Given the description of an element on the screen output the (x, y) to click on. 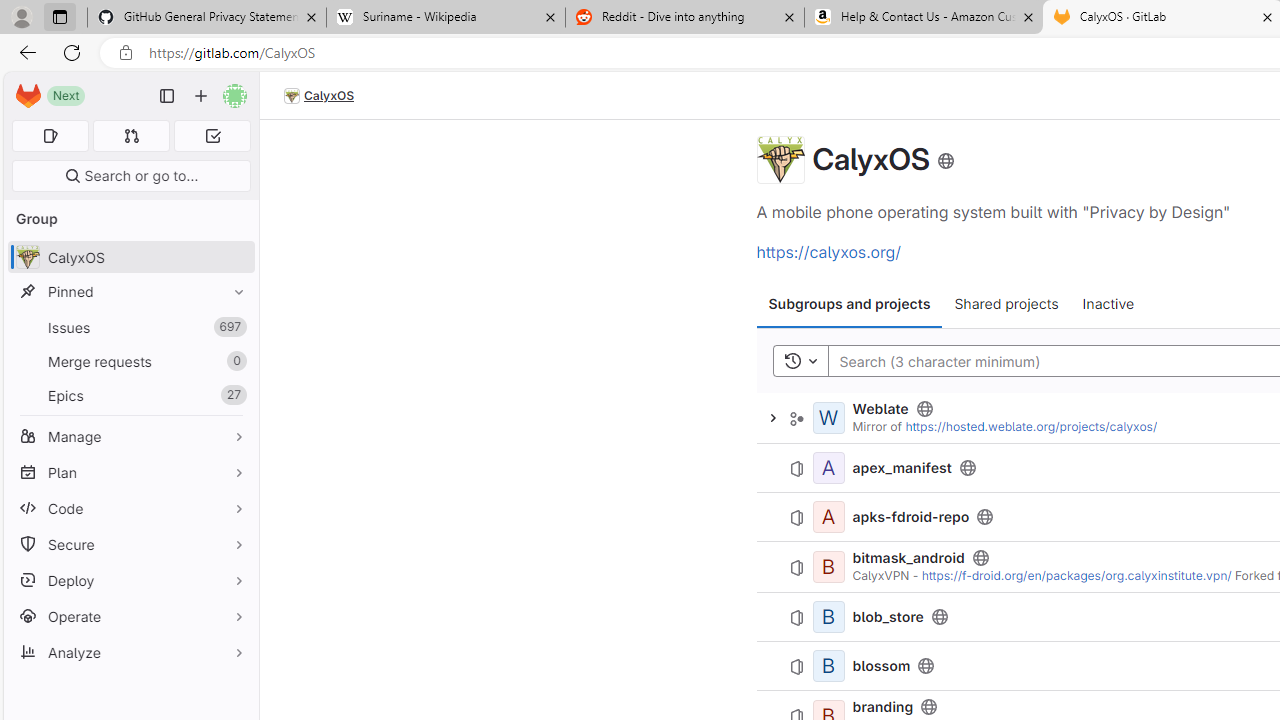
Code (130, 507)
https://hosted.weblate.org/projects/calyxos/ (1031, 426)
Pinned (130, 291)
Analyze (130, 651)
Expand (772, 417)
apks-fdroid-repo (911, 516)
CalyxOS (319, 96)
Unpin Epics (234, 395)
Class: s16 icon (944, 160)
Inactive (1108, 304)
